Given the description of an element on the screen output the (x, y) to click on. 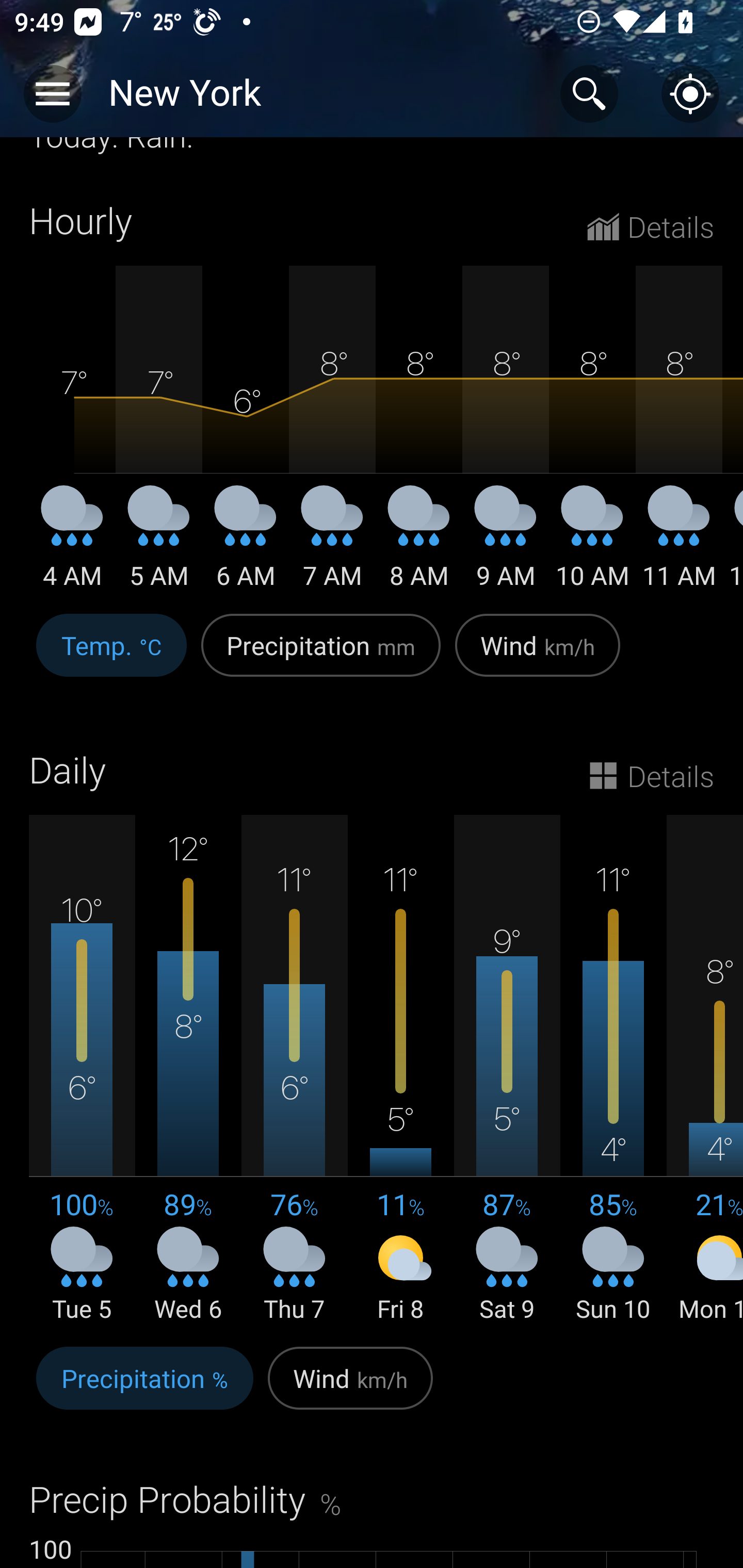
4 AM (71, 544)
5 AM (158, 544)
6 AM (245, 544)
7 AM (332, 544)
8 AM (418, 544)
9 AM (505, 544)
10 AM (592, 544)
11 AM (679, 544)
Temp. °C (110, 655)
Precipitation mm (320, 655)
Wind km/h (537, 655)
10° 6° 100 % Tue 5 (81, 1069)
12° 8° 89 % Wed 6 (188, 1069)
11° 6° 76 % Thu 7 (294, 1069)
11° 5° 11 % Fri 8 (400, 1069)
9° 5° 87 % Sat 9 (506, 1069)
11° 4° 85 % Sun 10 (613, 1069)
8° 4° 21 % Mon 11 (704, 1069)
Precipitation % (144, 1388)
Wind km/h (349, 1388)
